Given the description of an element on the screen output the (x, y) to click on. 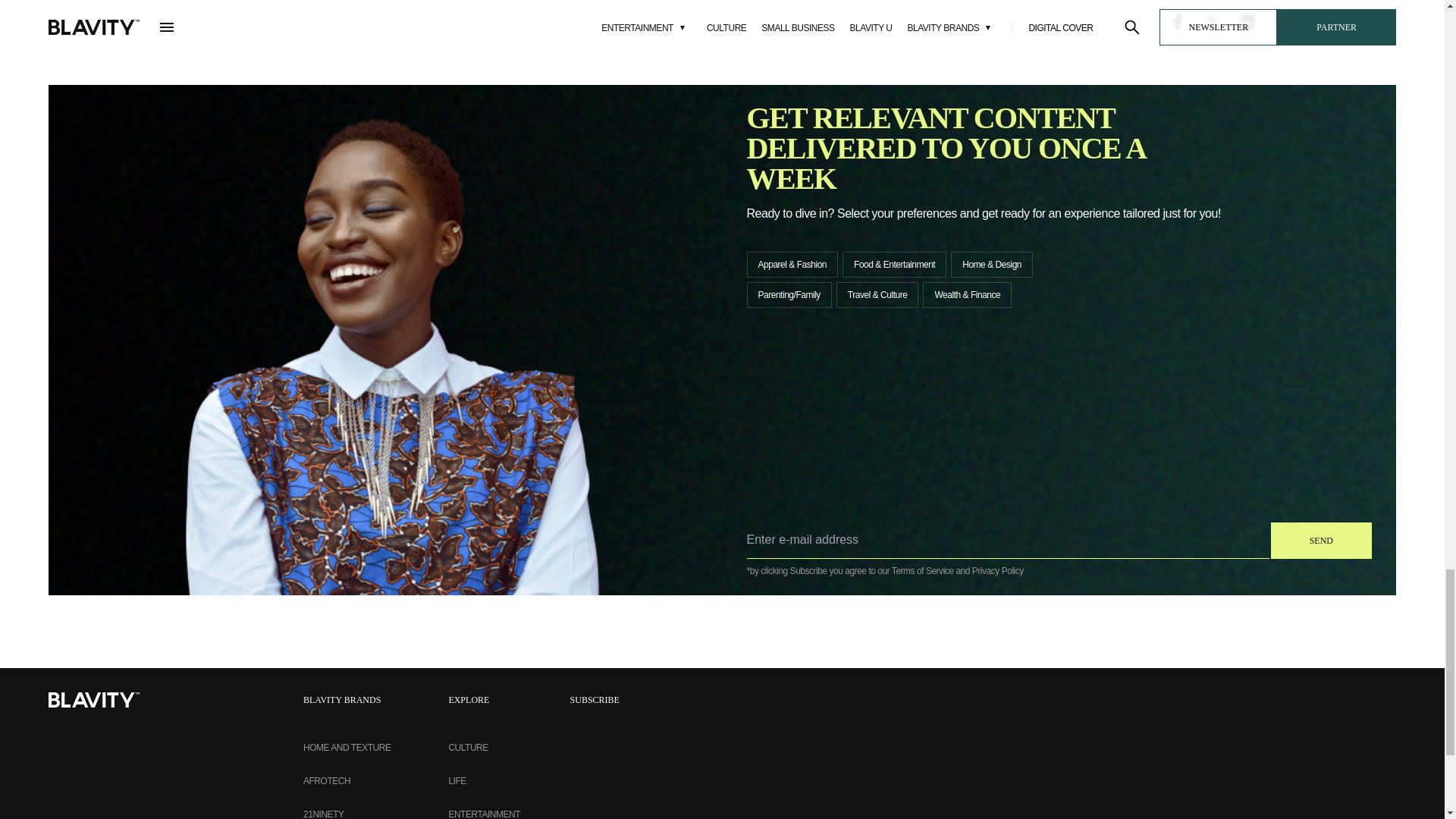
send (1321, 540)
Blavity News logo (93, 699)
